Given the description of an element on the screen output the (x, y) to click on. 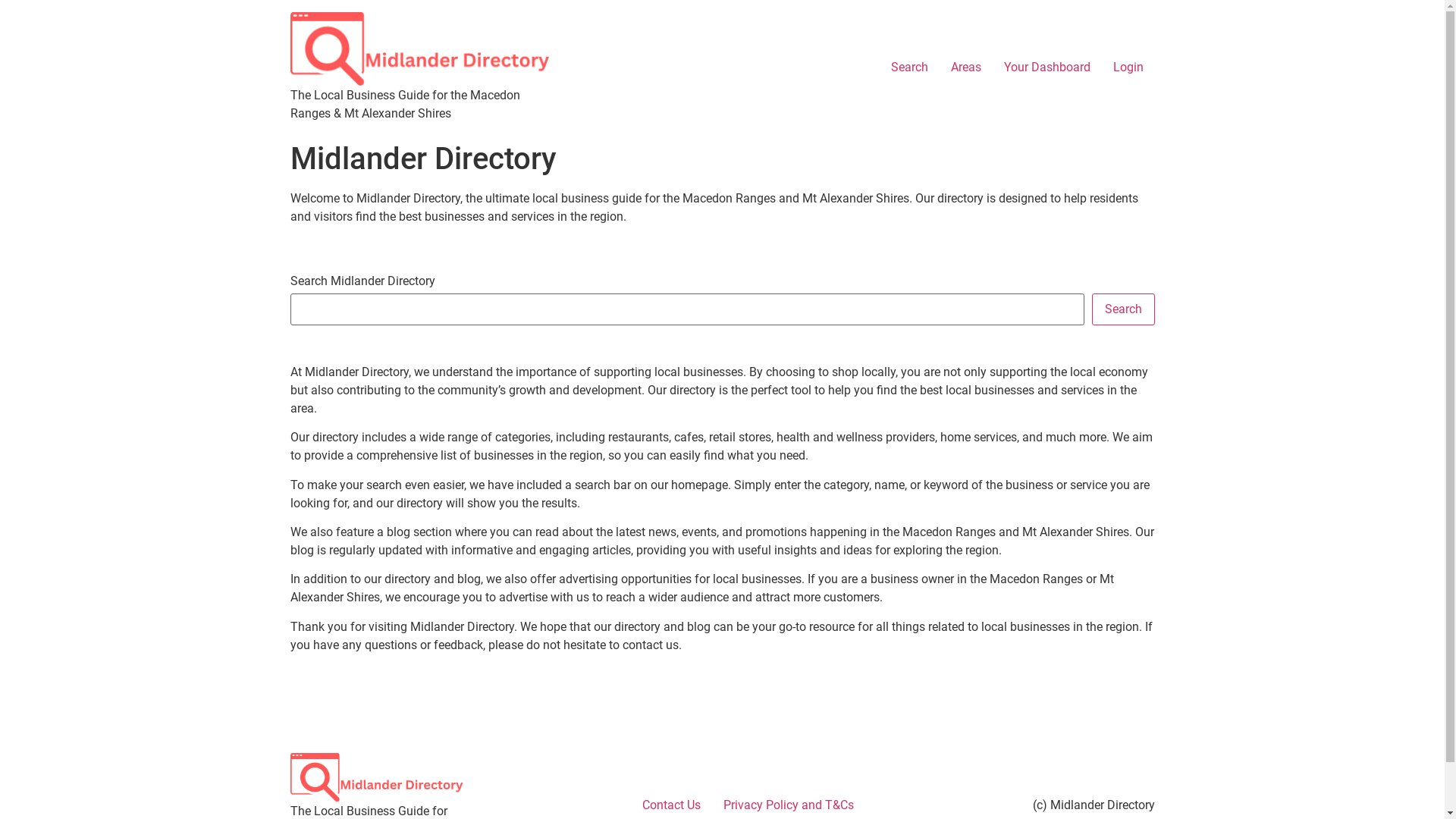
Privacy Policy and T&Cs Element type: text (787, 805)
Areas Element type: text (964, 67)
Search Element type: text (722, 158)
Your Dashboard Element type: text (1046, 67)
Search Element type: text (1123, 309)
Contact Us Element type: text (671, 805)
Search Element type: text (909, 67)
Login Element type: text (1127, 67)
